Given the description of an element on the screen output the (x, y) to click on. 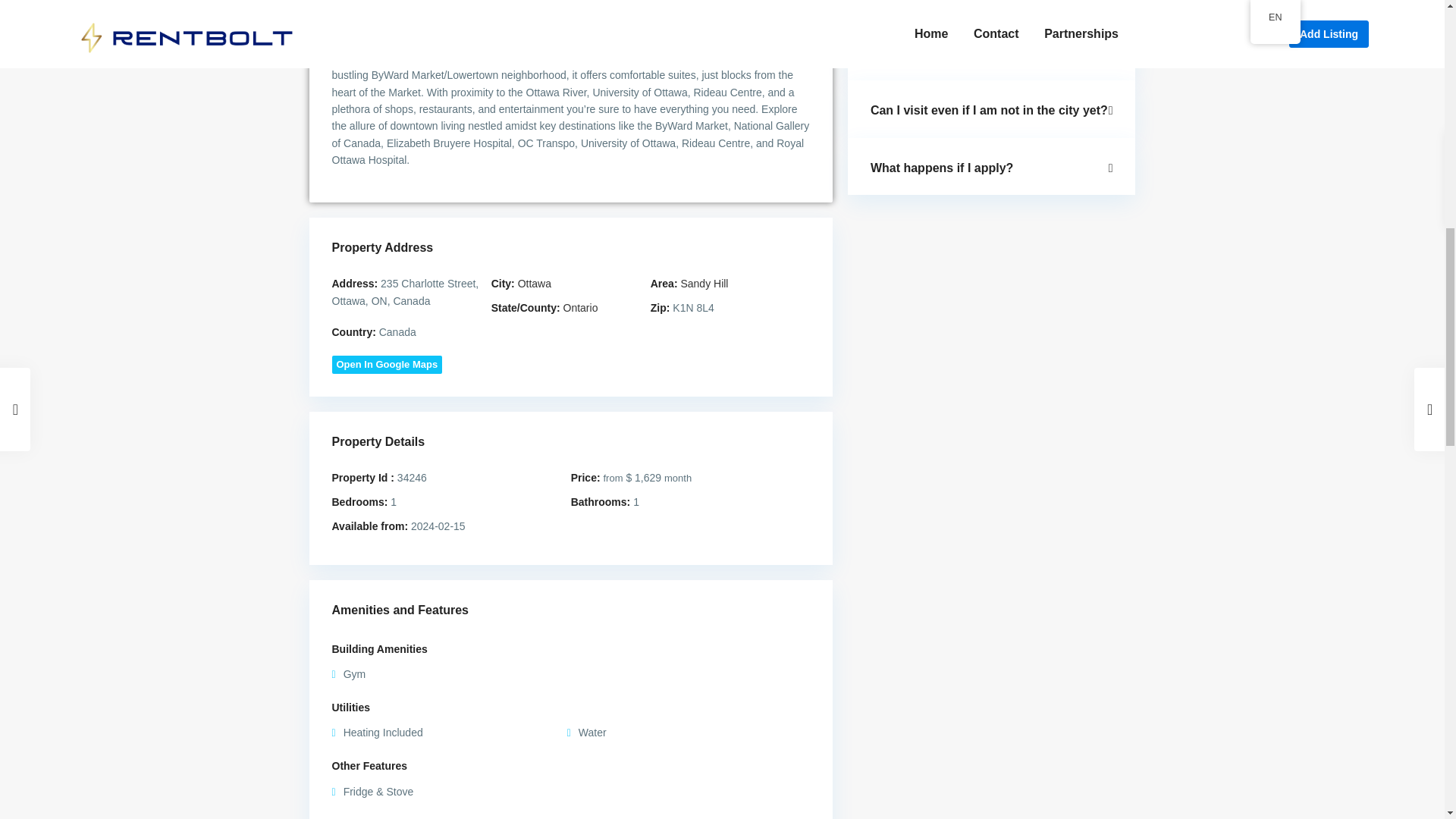
Ottawa (534, 283)
